Given the description of an element on the screen output the (x, y) to click on. 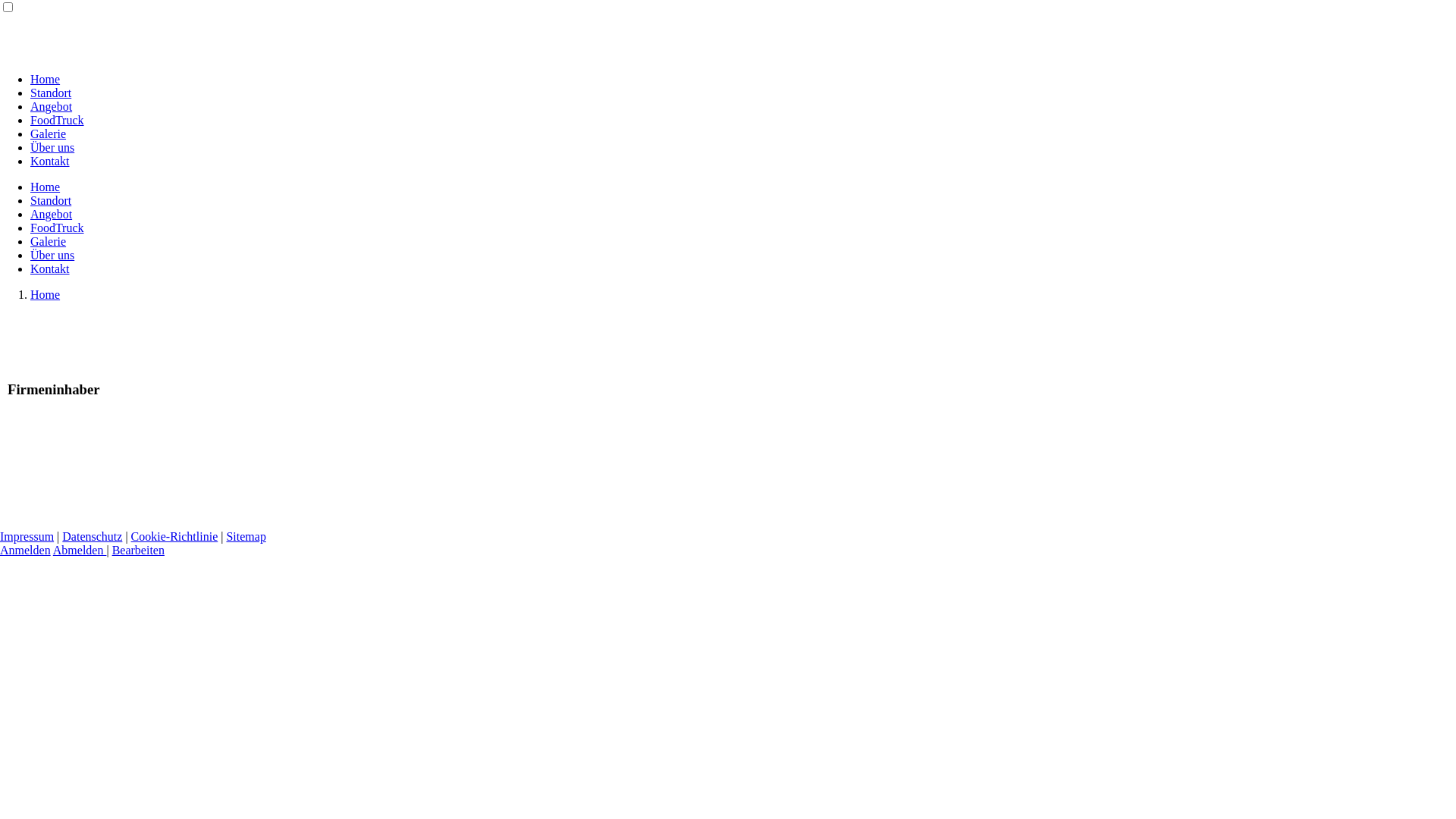
Standort Element type: text (50, 200)
acapulcogrill@gmx.ch Element type: text (98, 489)
Kontakt Element type: text (49, 268)
Kontakt Element type: text (49, 160)
Galerie Element type: text (47, 241)
Cookie-Richtlinie Element type: text (174, 536)
Bearbeiten Element type: text (138, 549)
Home Element type: text (44, 78)
FoodTruck Element type: text (57, 227)
Angebot Element type: text (51, 106)
Standort Element type: text (50, 92)
Angebot Element type: text (51, 213)
Anmelden Element type: text (25, 549)
Impressum Element type: text (26, 536)
Home Element type: text (44, 294)
FoodTruck Element type: text (57, 119)
Datenschutz Element type: text (92, 536)
Galerie Element type: text (47, 133)
Abmelden Element type: text (79, 549)
Sitemap Element type: text (245, 536)
Home Element type: text (44, 186)
